Given the description of an element on the screen output the (x, y) to click on. 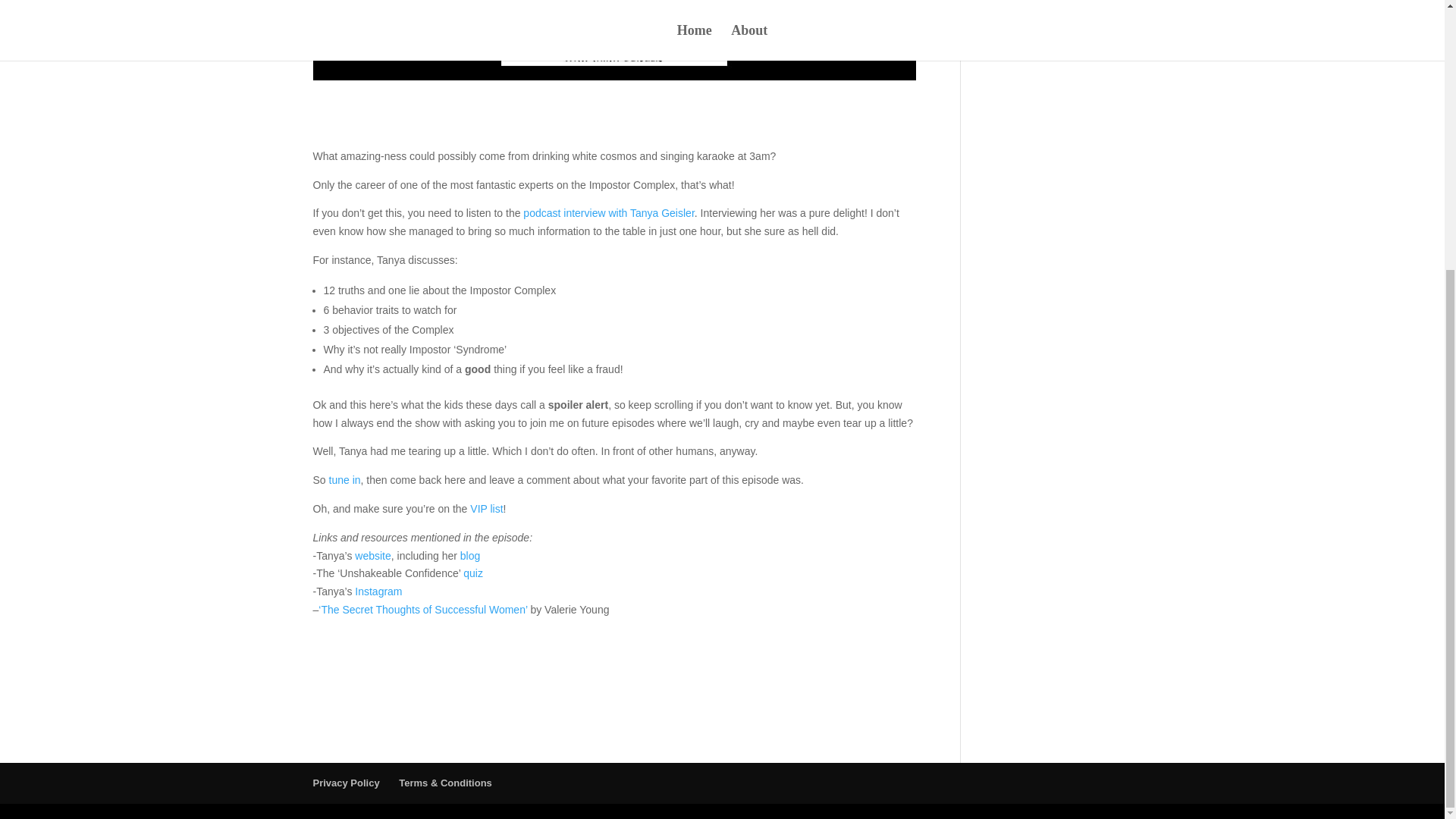
website (372, 555)
Instagram (378, 591)
Privacy Policy (345, 782)
VIP list (486, 508)
podcast interview with Tanya Geisler (608, 213)
tune in (345, 480)
quiz (473, 573)
blog (470, 555)
